Given the description of an element on the screen output the (x, y) to click on. 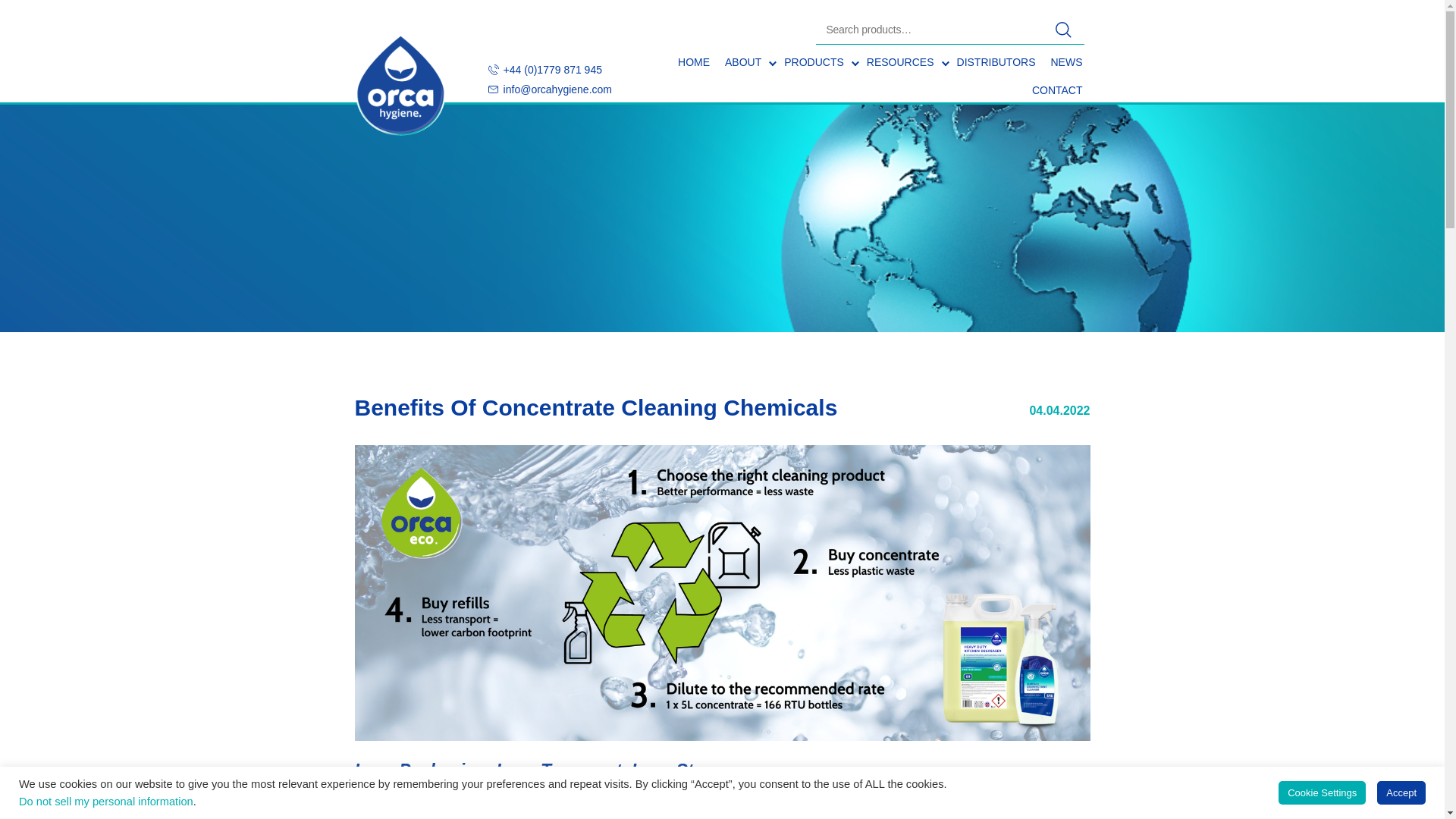
ABOUT (746, 62)
DISTRIBUTORS (996, 62)
RESOURCES (904, 62)
SEARCH (1067, 29)
PRODUCTS (817, 62)
NEWS (1066, 62)
HOME (693, 62)
CONTACT (1057, 90)
